Given the description of an element on the screen output the (x, y) to click on. 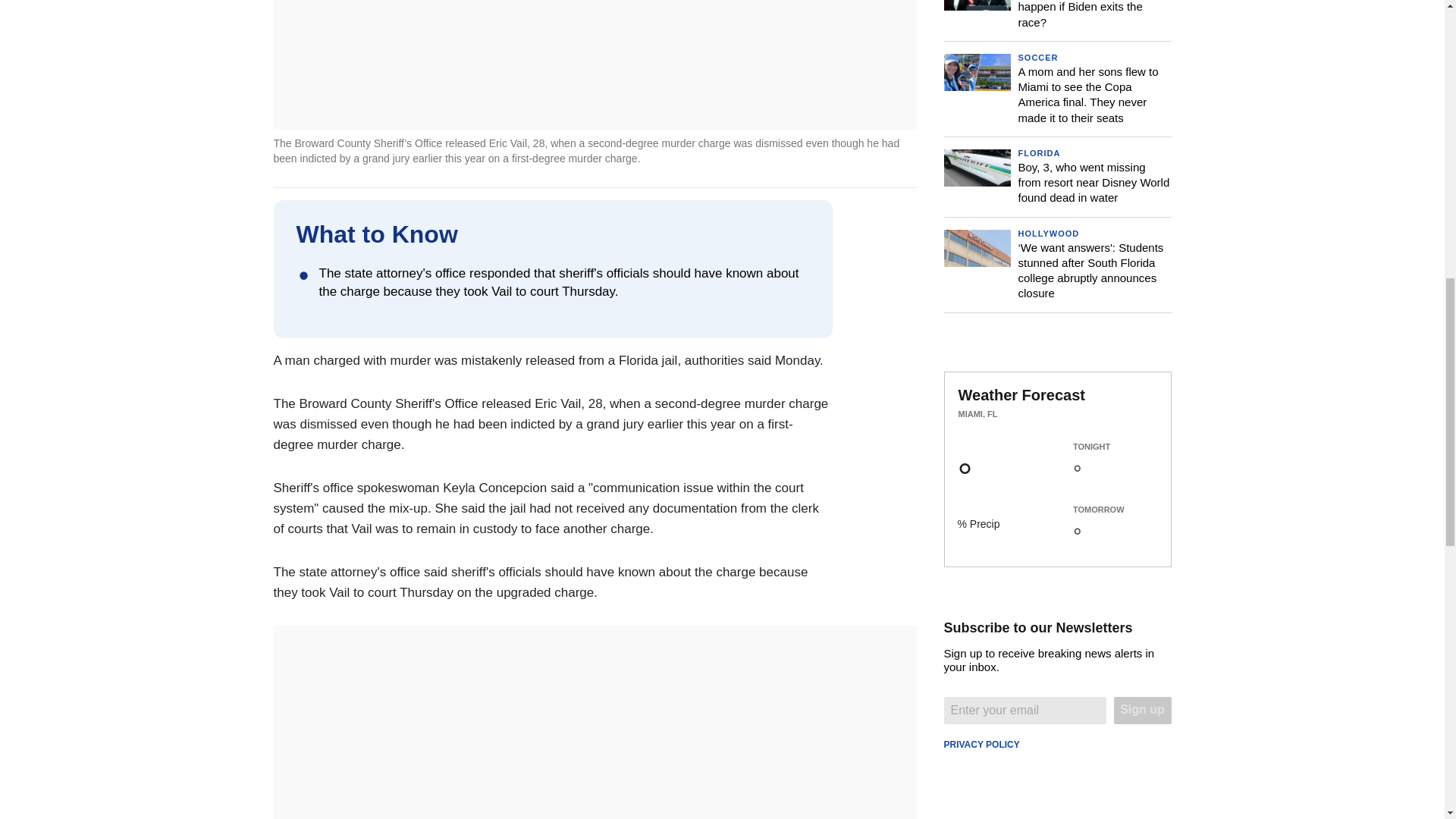
3rd party ad content (1056, 451)
Flowchart: What could happen if Biden exits the race? (1079, 14)
SOCCER (1037, 57)
3rd party ad content (1056, 699)
